Given the description of an element on the screen output the (x, y) to click on. 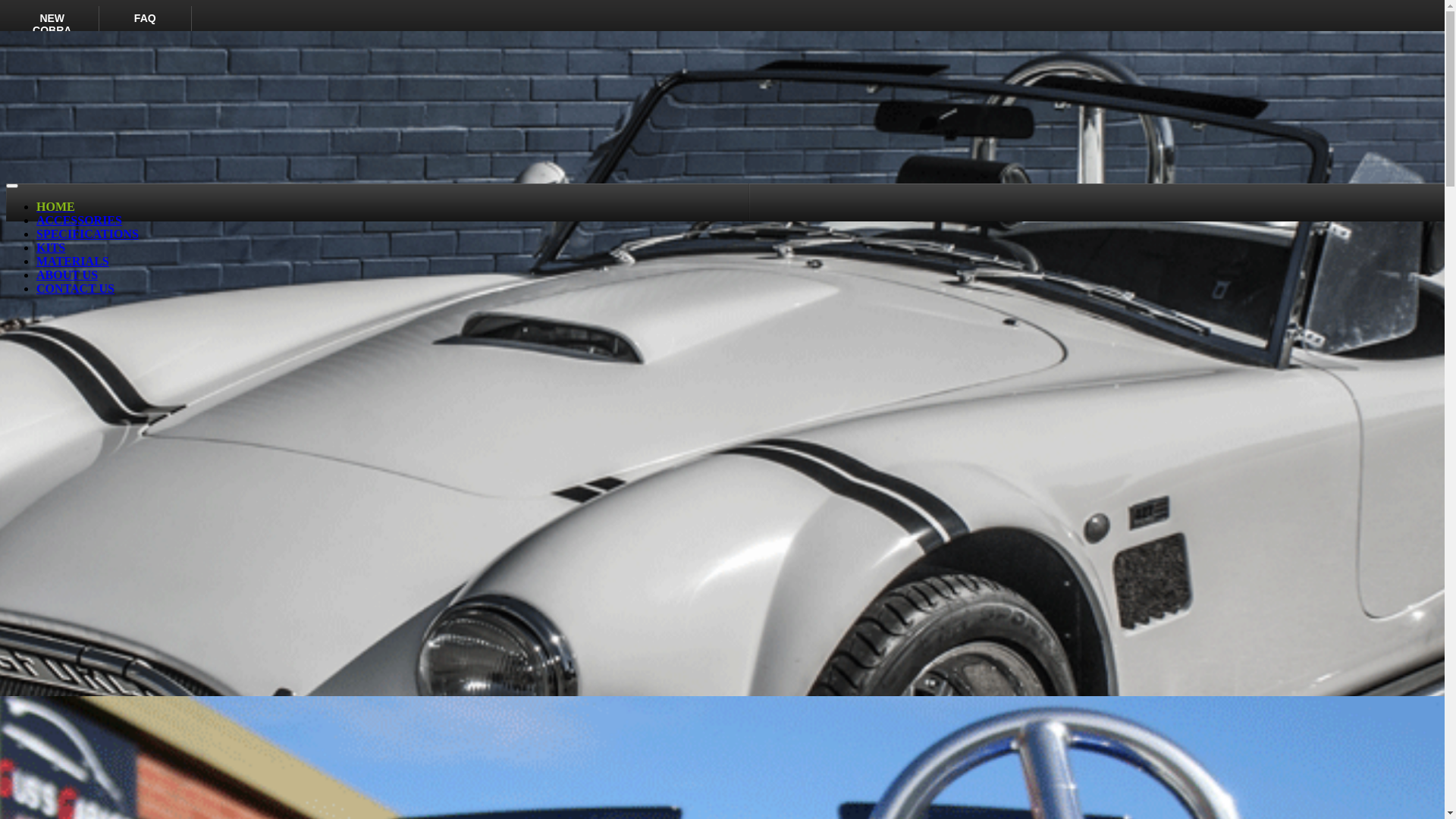
MATERIALS Element type: text (72, 260)
KITS Element type: text (50, 247)
CONTACT US Element type: text (75, 288)
SPECIFICATIONS Element type: text (87, 233)
ACCESSORIES Element type: text (79, 219)
FAQ Element type: text (144, 26)
HOME Element type: text (55, 206)
ABOUT US Element type: text (66, 274)
NEW COBRA Element type: text (52, 26)
